Given the description of an element on the screen output the (x, y) to click on. 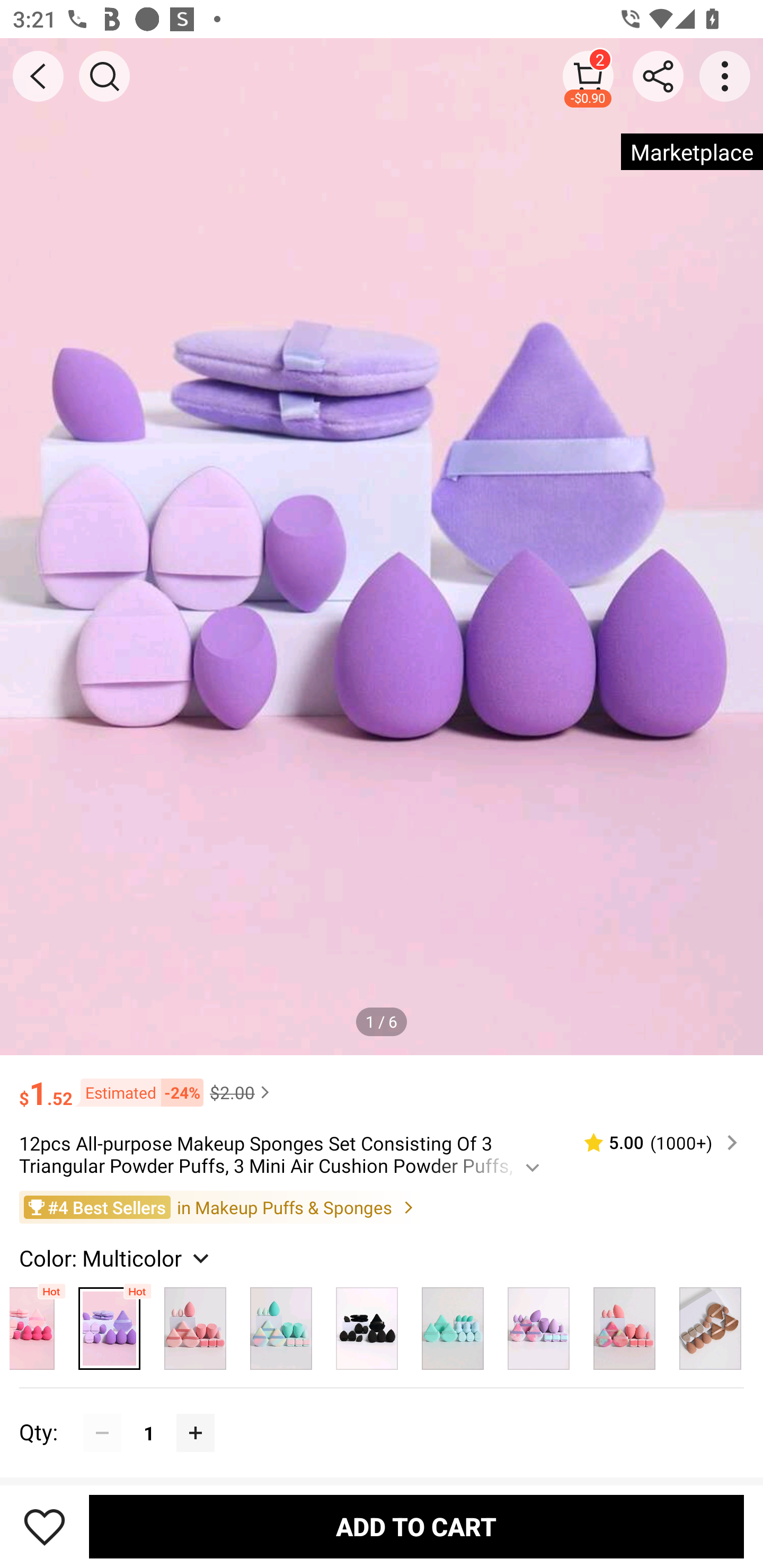
BACK (38, 75)
2 -$0.90 (588, 75)
1 / 6 (381, 1021)
$1.52 Estimated -24% $2.00 (381, 1084)
Estimated -24% (137, 1092)
$2.00 (241, 1091)
5.00 (1000‎+) (653, 1142)
#4 Best Sellers in Makeup Puffs & Sponges (381, 1206)
Color: Multicolor (116, 1258)
Multicolor (38, 1324)
Multicolor (109, 1324)
Multicolor (195, 1324)
Multicolor (281, 1324)
Multicolor (367, 1324)
Multicolor (452, 1324)
Multicolor (538, 1324)
Multicolor (624, 1324)
Multicolor (710, 1324)
Qty: 1 (381, 1413)
ADD TO CART (416, 1526)
Save (44, 1526)
